Given the description of an element on the screen output the (x, y) to click on. 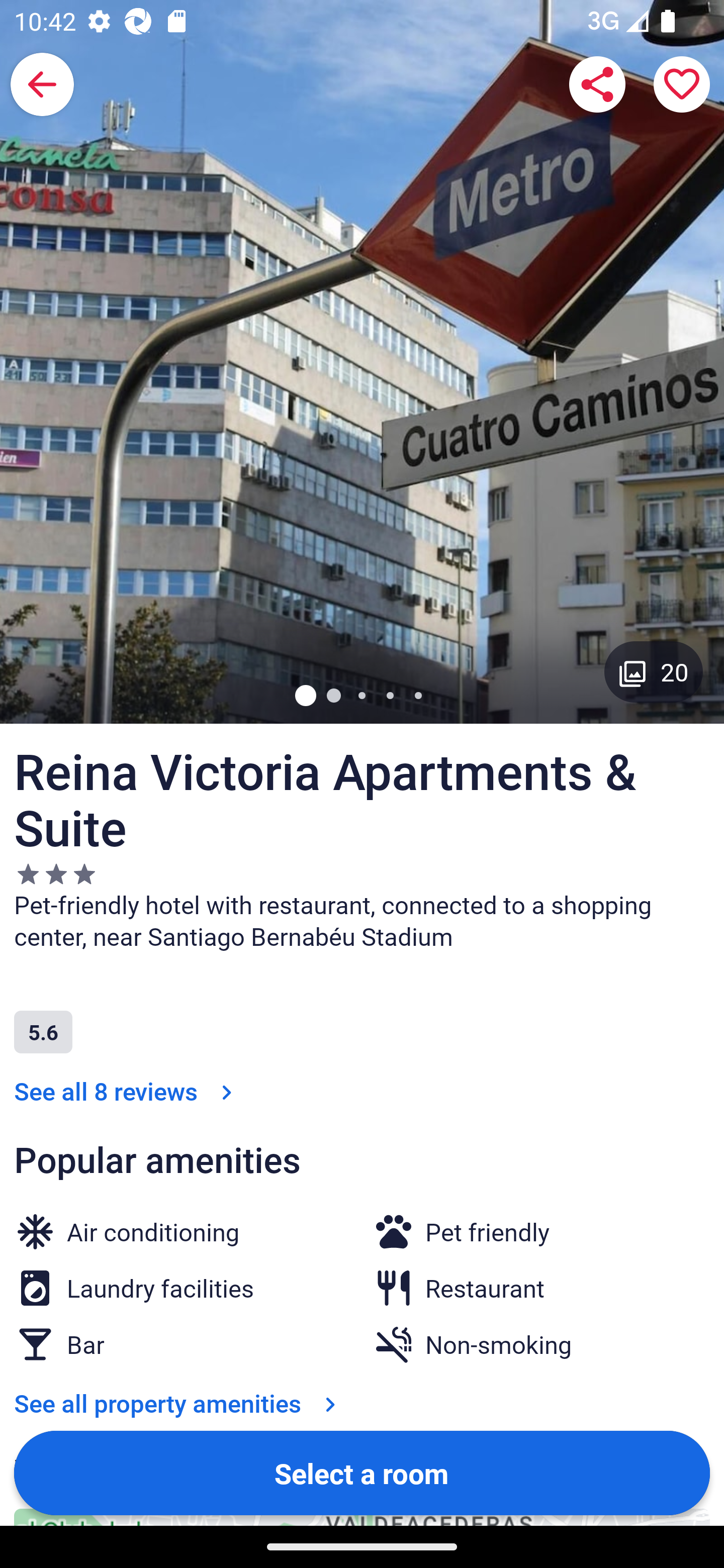
Back (42, 84)
Save property to a trip (681, 84)
Share Reina Victoria Apartments & Suite (597, 84)
Gallery button with 20 images (653, 671)
See all 8 reviews See all 8 reviews Link (126, 1090)
See all property amenities (178, 1403)
Select a room Button Select a room (361, 1472)
